Given the description of an element on the screen output the (x, y) to click on. 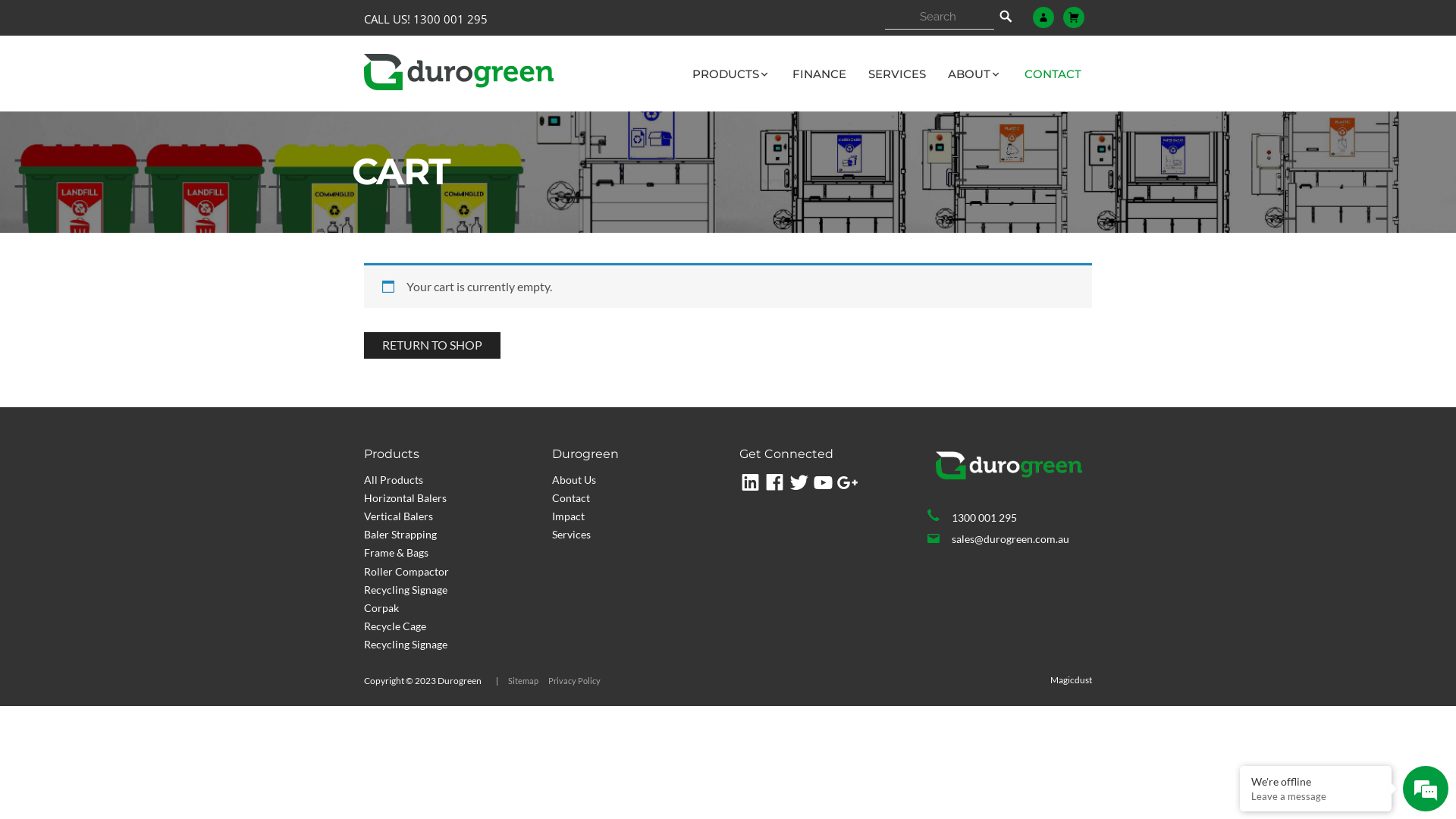
Impact Element type: text (568, 515)
PRODUCTS Element type: text (730, 73)
Search Element type: hover (1005, 16)
Roller Compactor Element type: text (406, 570)
Baler Strapping Element type: text (400, 533)
SERVICES Element type: text (896, 73)
FINANCE Element type: text (819, 73)
Frame & Bags Element type: text (396, 552)
Recycling Signage Element type: text (405, 589)
Services Element type: text (571, 533)
Corpak Element type: text (381, 607)
CALL US! 1300 001 295 Element type: text (425, 19)
Recycling Signage Element type: text (405, 643)
About Us Element type: text (574, 479)
RETURN TO SHOP Element type: text (432, 345)
1300 001 295 Element type: text (1009, 516)
All Products Element type: text (393, 479)
CONTACT Element type: text (1051, 73)
Horizontal Balers Element type: text (405, 497)
Vertical Balers Element type: text (398, 515)
Return to homepage Element type: hover (458, 71)
ABOUT Element type: text (974, 73)
Contact Element type: text (570, 497)
Recycle Cage Element type: text (395, 625)
Sitemap Element type: text (522, 681)
Privacy Policy Element type: text (574, 681)
sales@durogreen.com.au Element type: text (1009, 538)
